Given the description of an element on the screen output the (x, y) to click on. 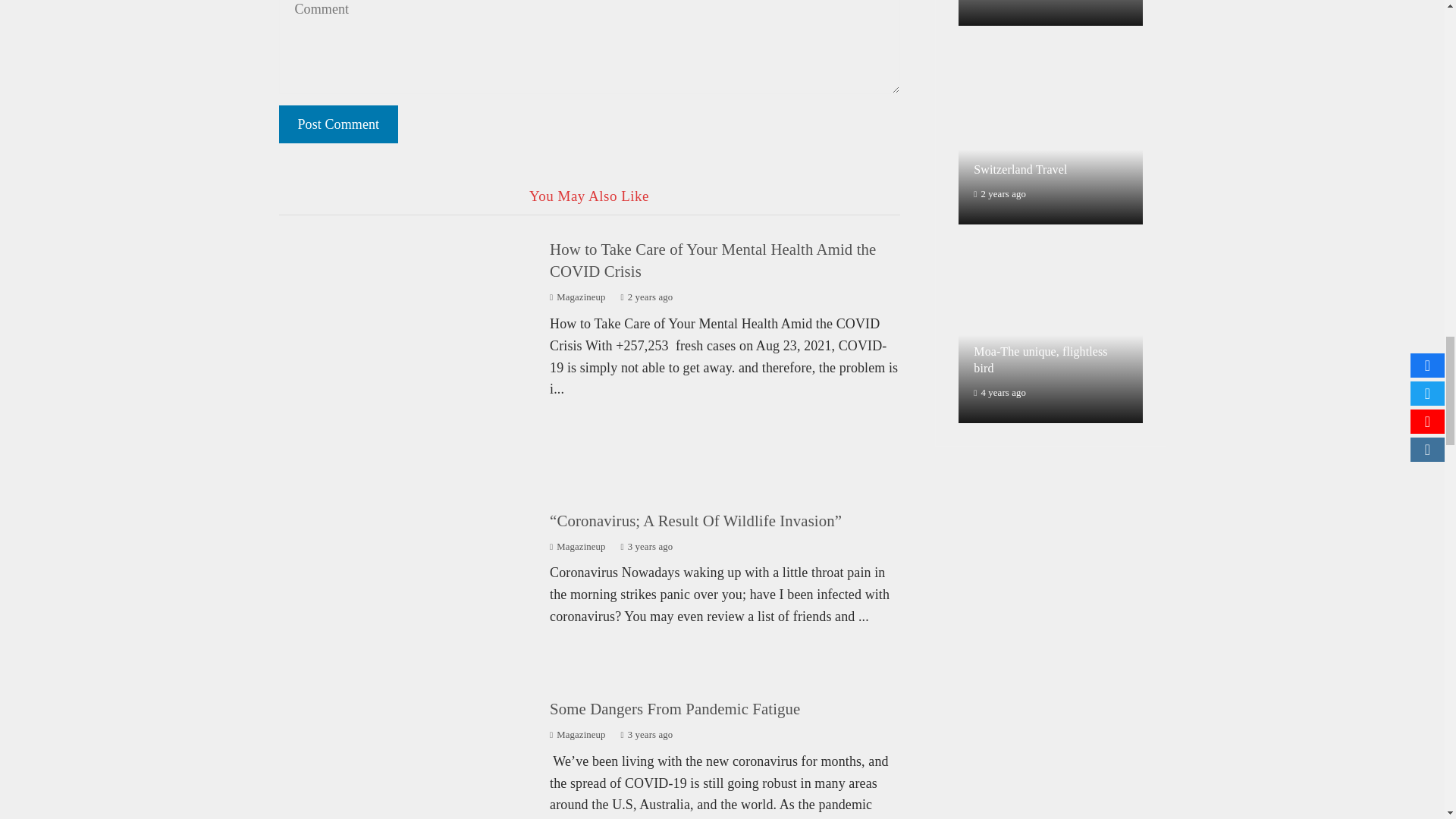
Post Comment (338, 124)
How to Take Care of Your Mental Health Amid the COVID Crisis (713, 260)
Some Dangers From Pandemic Fatigue (674, 708)
